Given the description of an element on the screen output the (x, y) to click on. 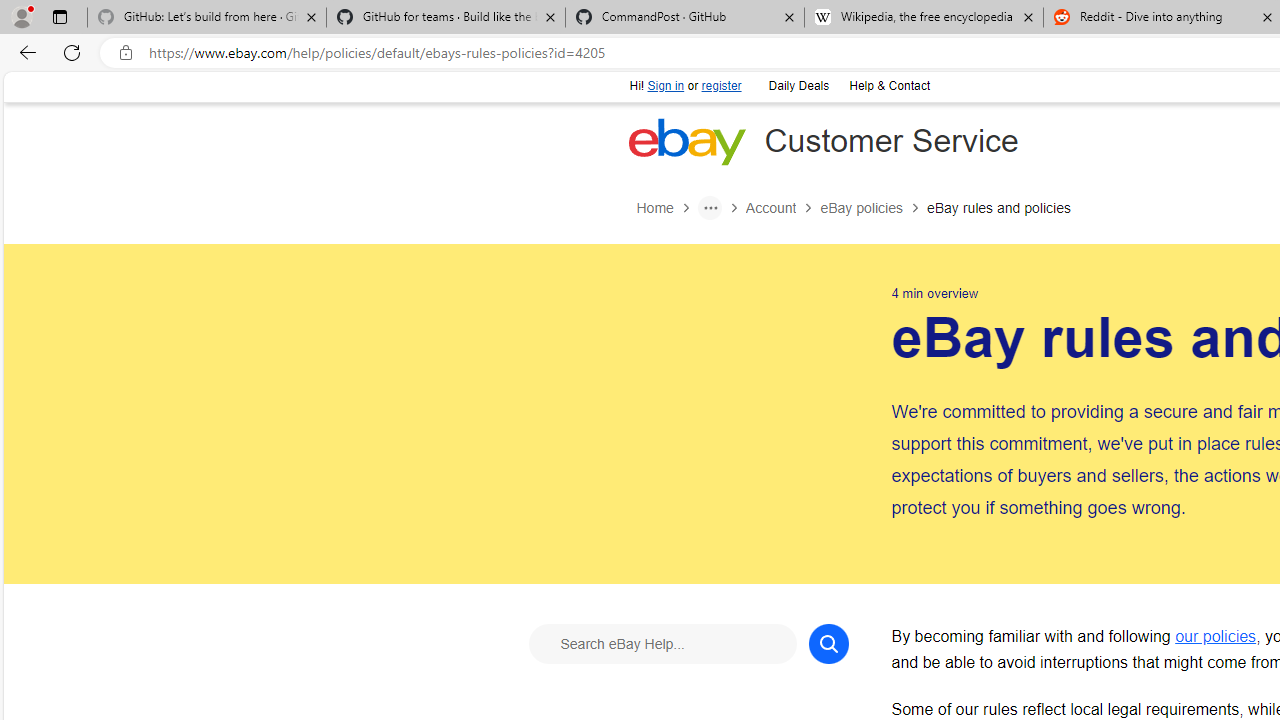
Search eBay Help... (662, 642)
Account (782, 208)
Daily Deals (797, 84)
Help & Contact (889, 86)
eBay Home (687, 141)
Help & Contact (888, 84)
